Given the description of an element on the screen output the (x, y) to click on. 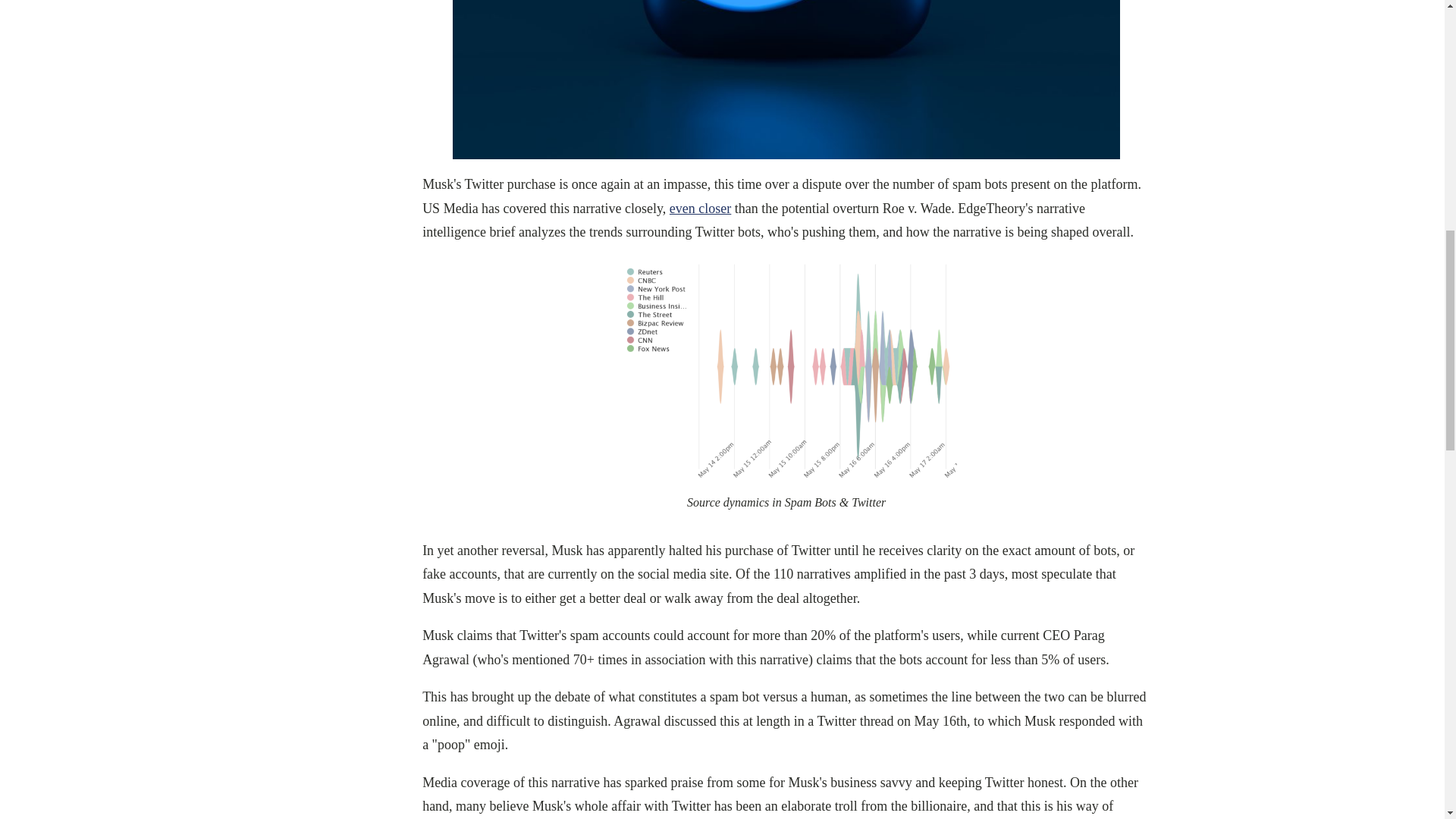
even closer (699, 208)
